Given the description of an element on the screen output the (x, y) to click on. 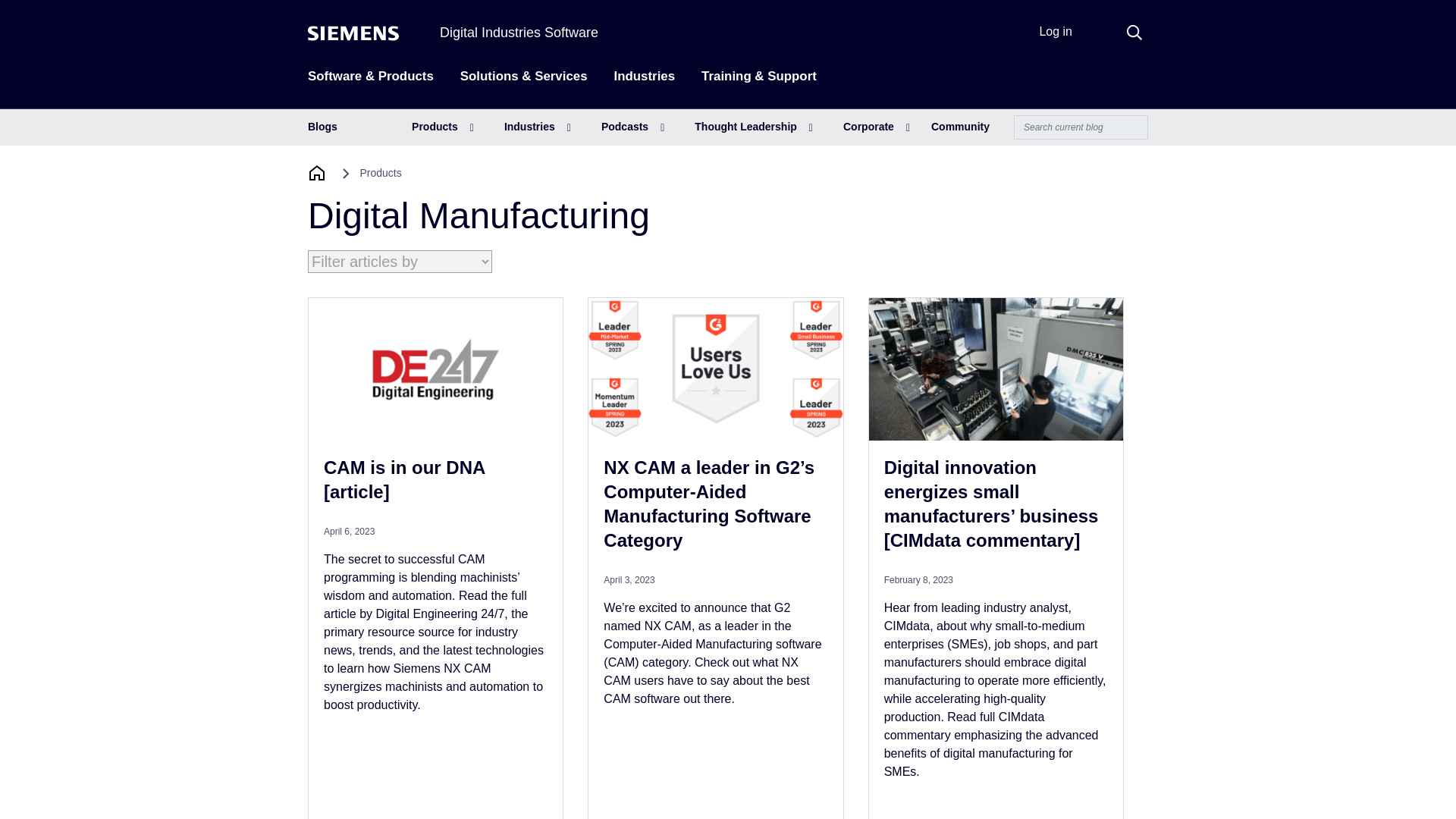
Products (443, 127)
Digital Industries Software (518, 32)
Log in (1055, 31)
Siemens (352, 32)
search (1133, 32)
